Given the description of an element on the screen output the (x, y) to click on. 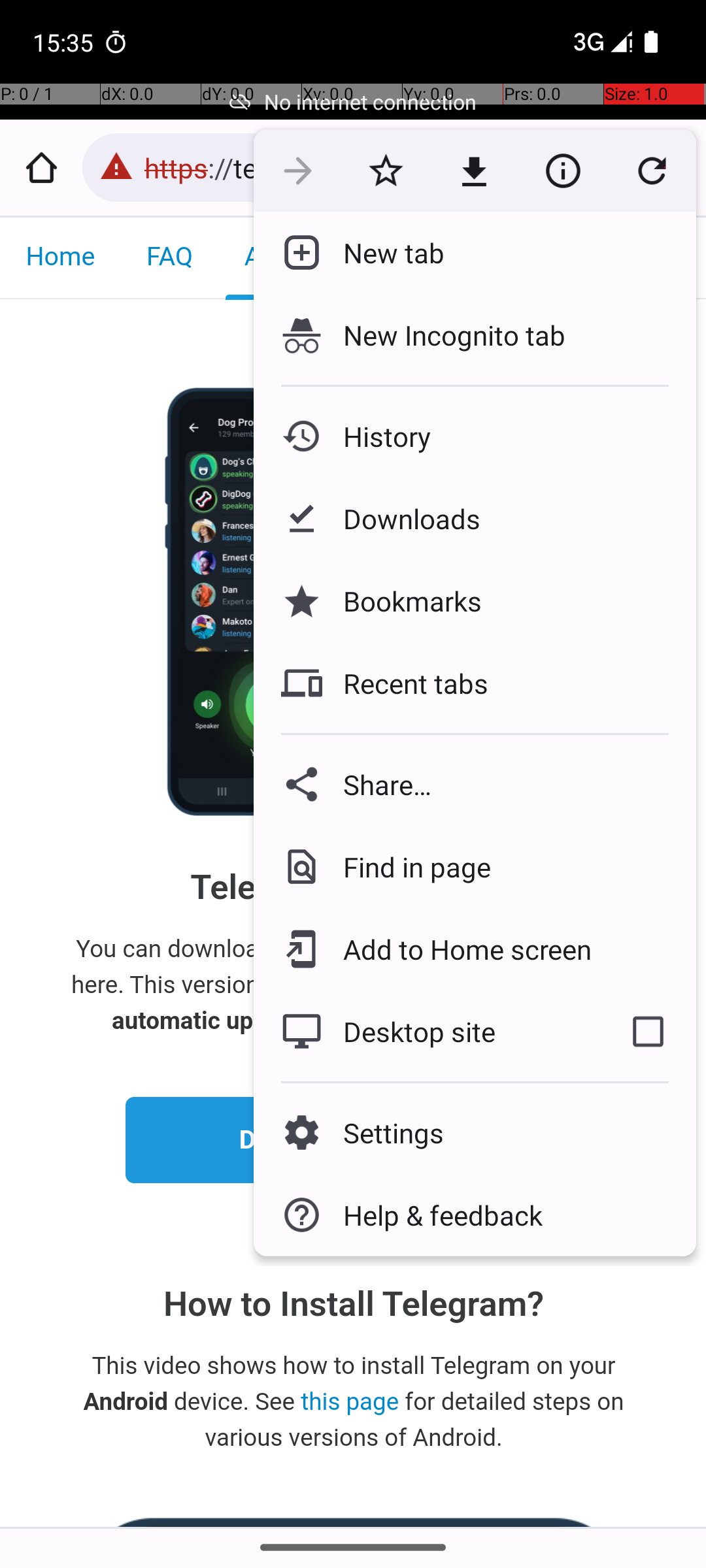
Forward Element type: android.widget.ImageButton (297, 170)
Bookmark Element type: android.widget.ImageButton (385, 170)
Page info Element type: android.widget.ImageButton (562, 170)
Share… Element type: android.widget.TextView (474, 784)
Add to Home screen Element type: android.widget.TextView (457, 949)
